Given the description of an element on the screen output the (x, y) to click on. 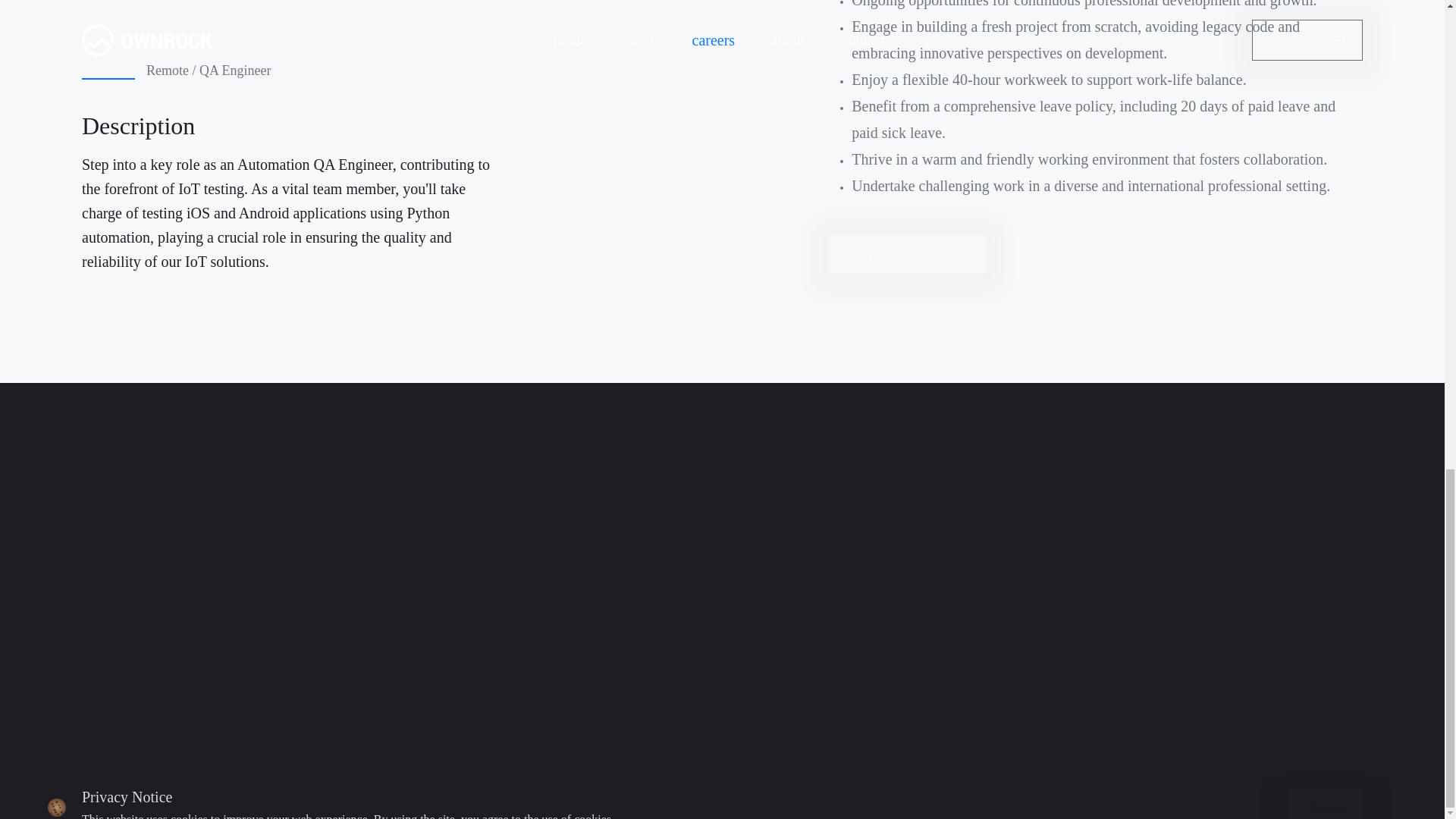
Apply Now (907, 253)
